Given the description of an element on the screen output the (x, y) to click on. 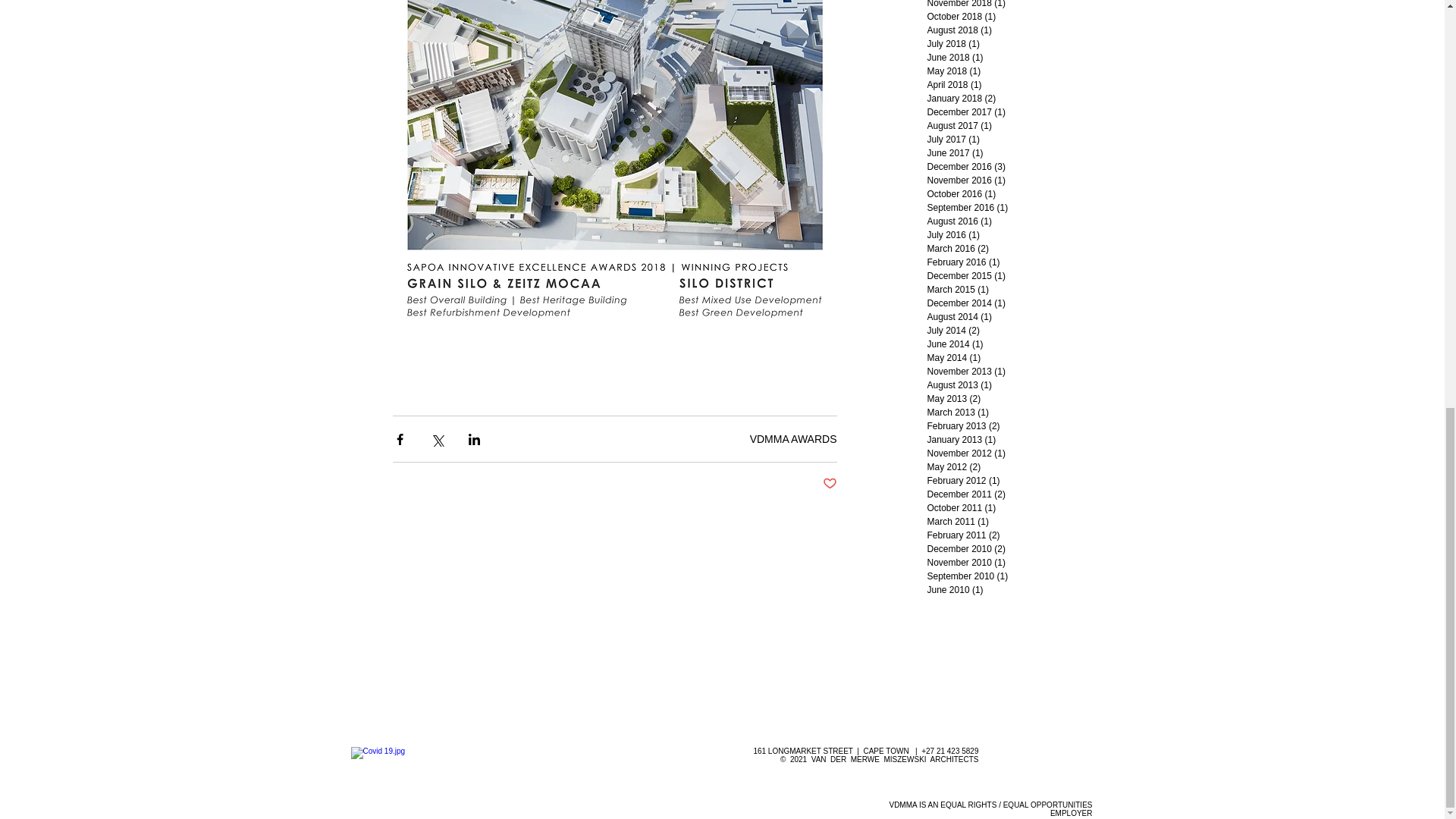
VDMMA AWARDS (793, 439)
Post not marked as liked (828, 483)
